Given the description of an element on the screen output the (x, y) to click on. 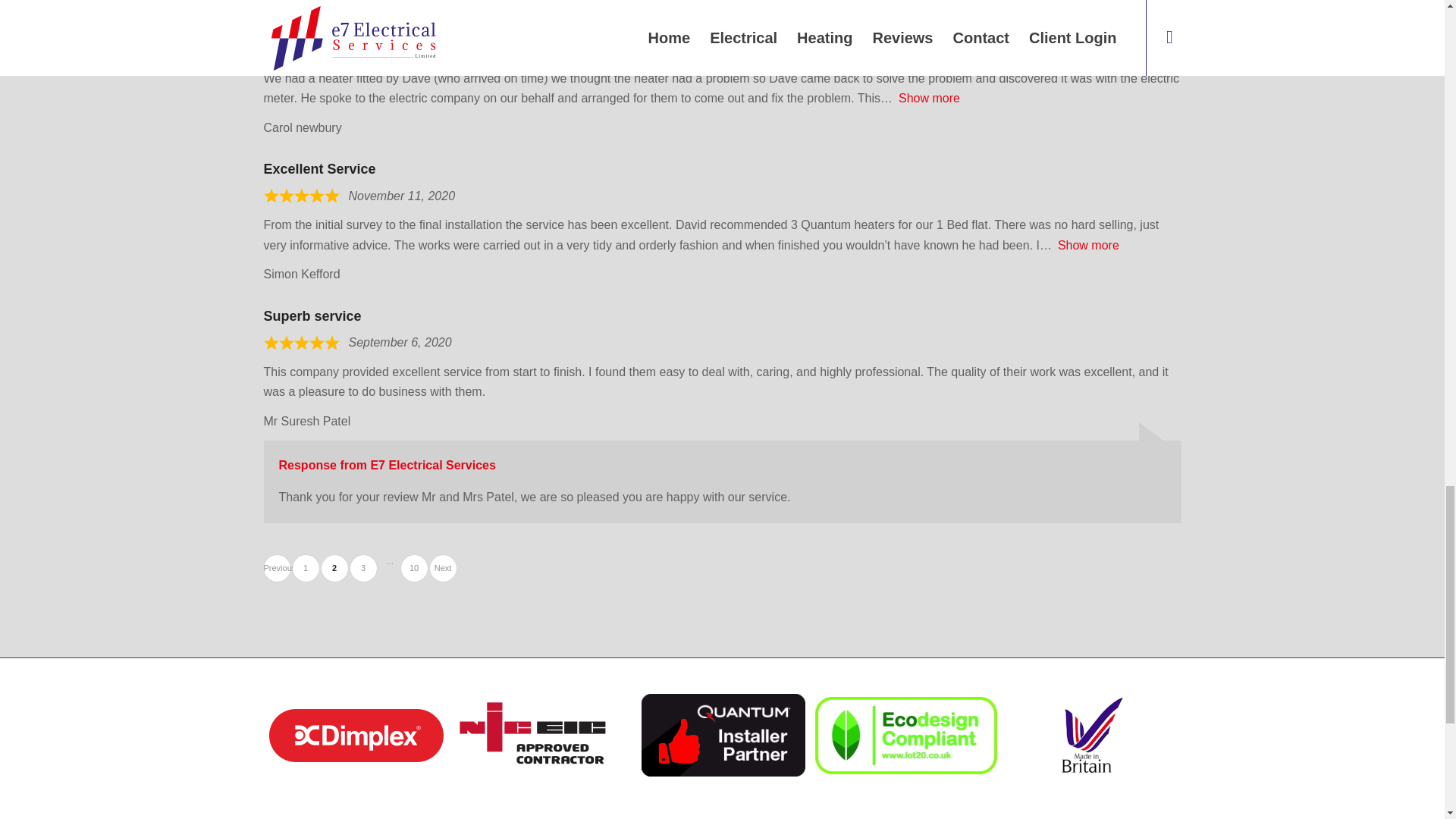
Show more (413, 568)
Show more (928, 97)
Previous (1088, 245)
Next (276, 568)
